Given the description of an element on the screen output the (x, y) to click on. 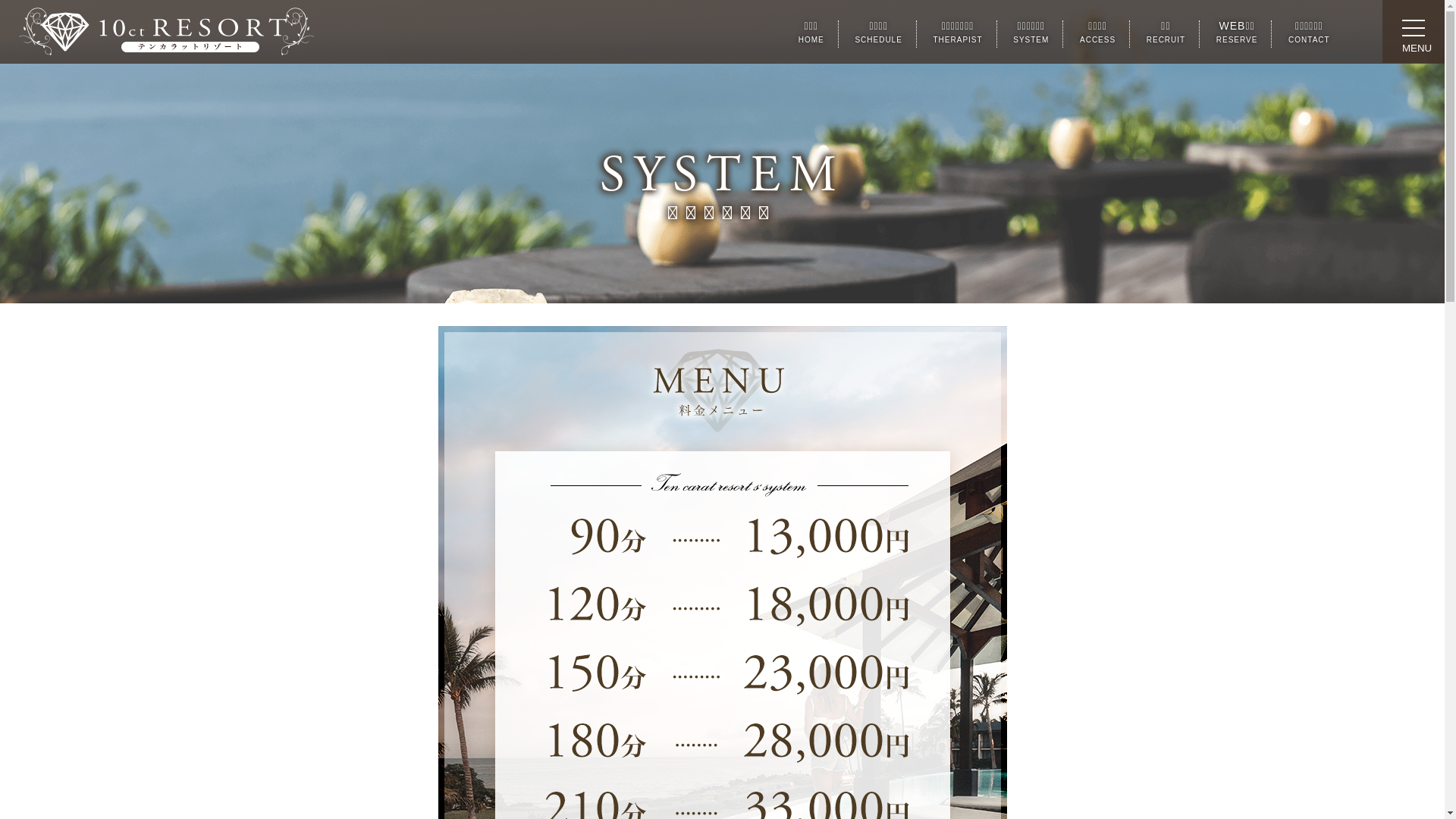
toggle navigation
MENU Element type: text (1413, 31)
